Given the description of an element on the screen output the (x, y) to click on. 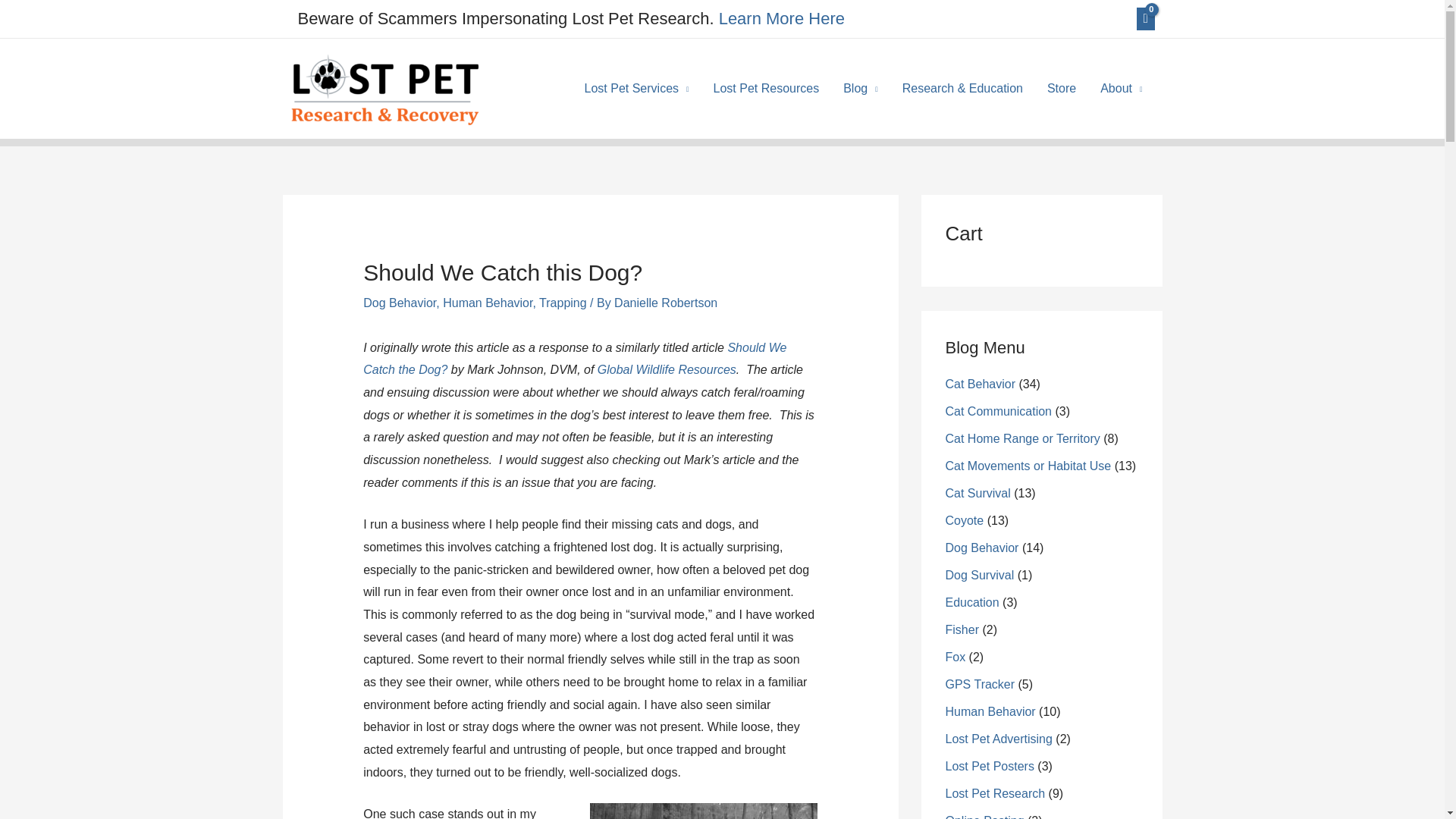
Lost Pet Resources (766, 88)
Store (1061, 88)
Lost Pet Services (636, 88)
View all posts by Danielle Robertson (665, 302)
Trapping (562, 302)
Dog Behavior (398, 302)
About (1120, 88)
Human Behavior (487, 302)
Blog (860, 88)
Learn More Here (781, 18)
